Given the description of an element on the screen output the (x, y) to click on. 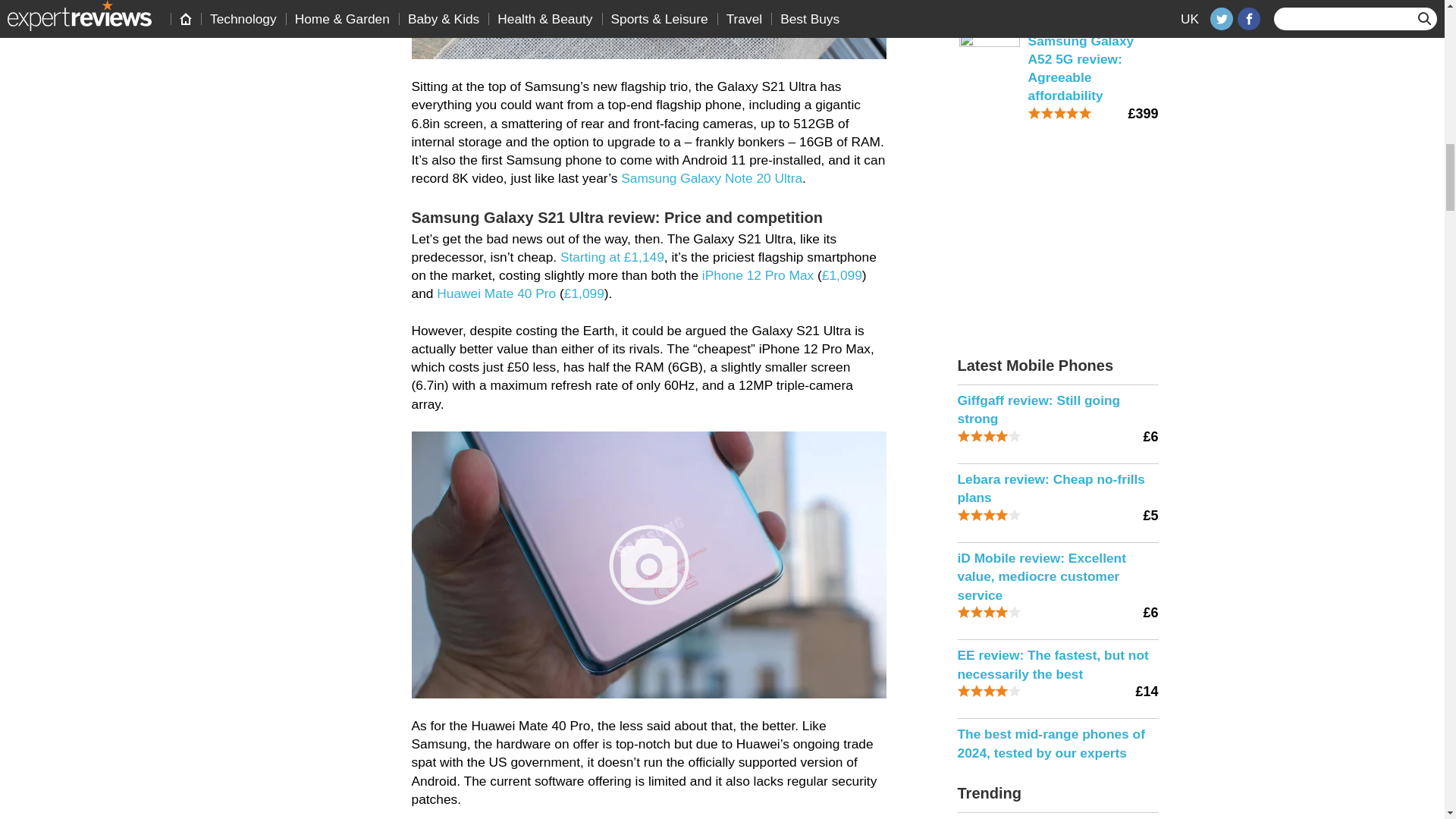
Samsung Galaxy Note 20 Ultra (711, 177)
samsung galaxy note 20 ultra (711, 177)
huawei mate 40 pro (496, 293)
iphone 12 pro max (757, 274)
